Given the description of an element on the screen output the (x, y) to click on. 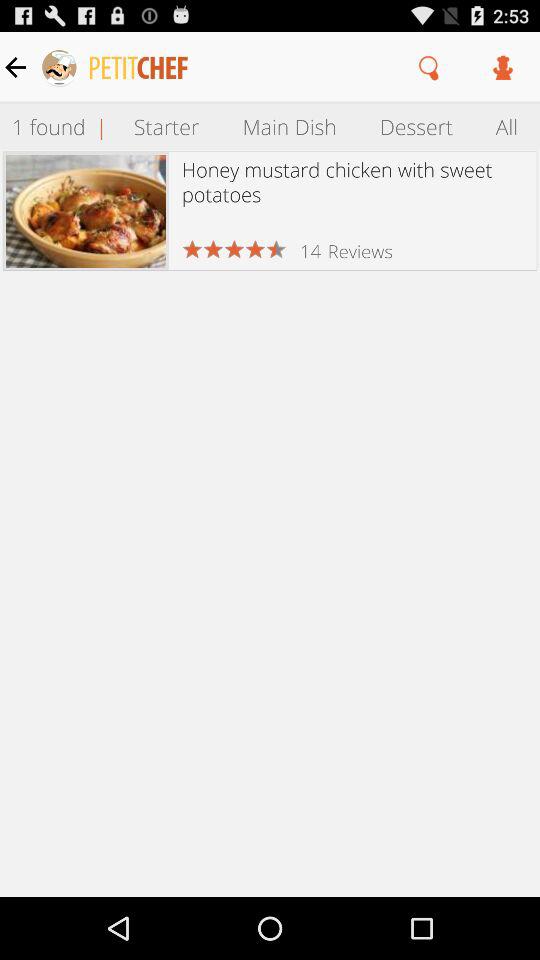
select the dessert icon (416, 126)
